Given the description of an element on the screen output the (x, y) to click on. 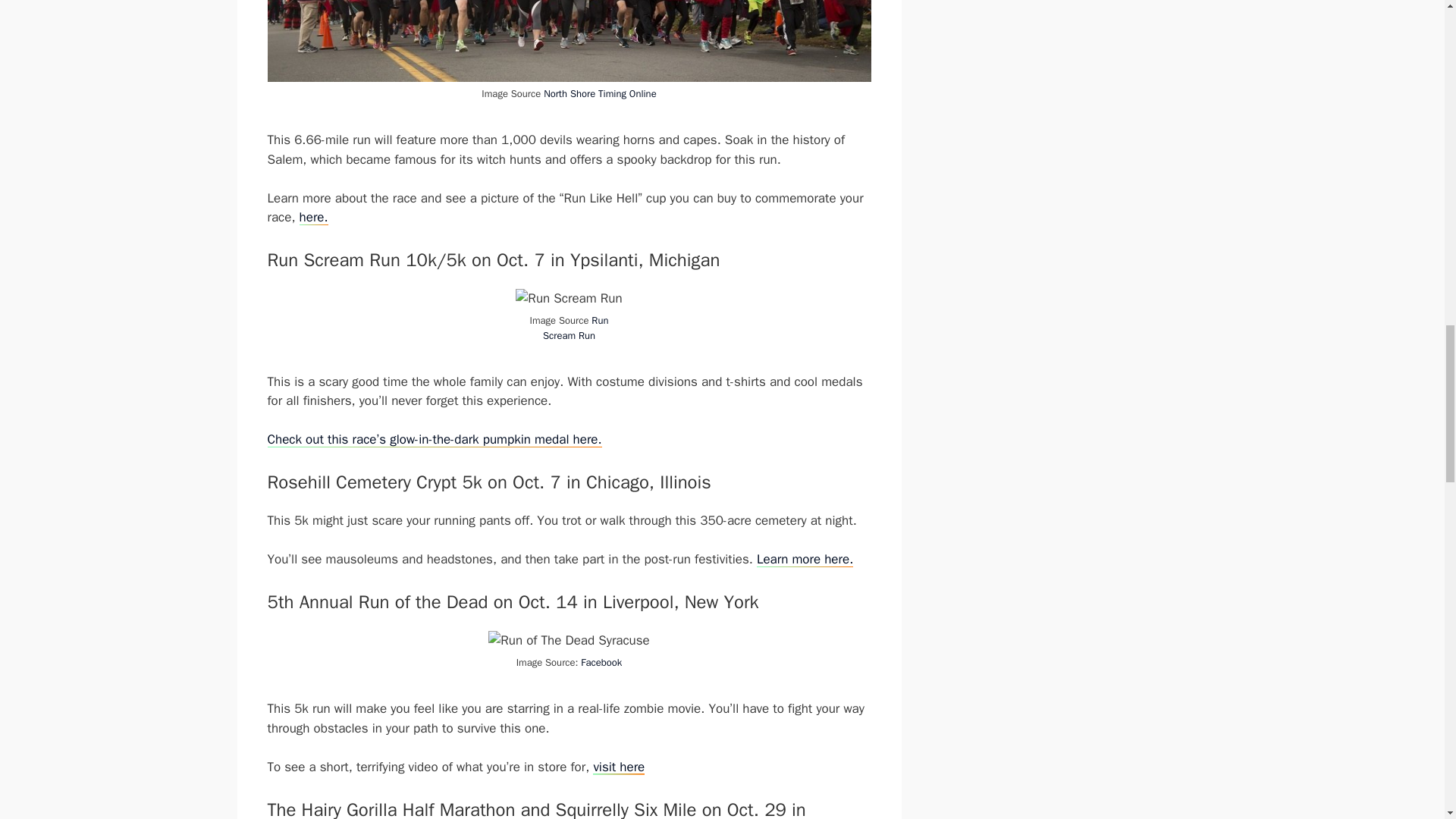
visit here (618, 766)
Learn more here. (805, 559)
here. (314, 217)
Run Scream Run (575, 327)
Facebook (600, 662)
North Shore Timing Online (599, 92)
